Given the description of an element on the screen output the (x, y) to click on. 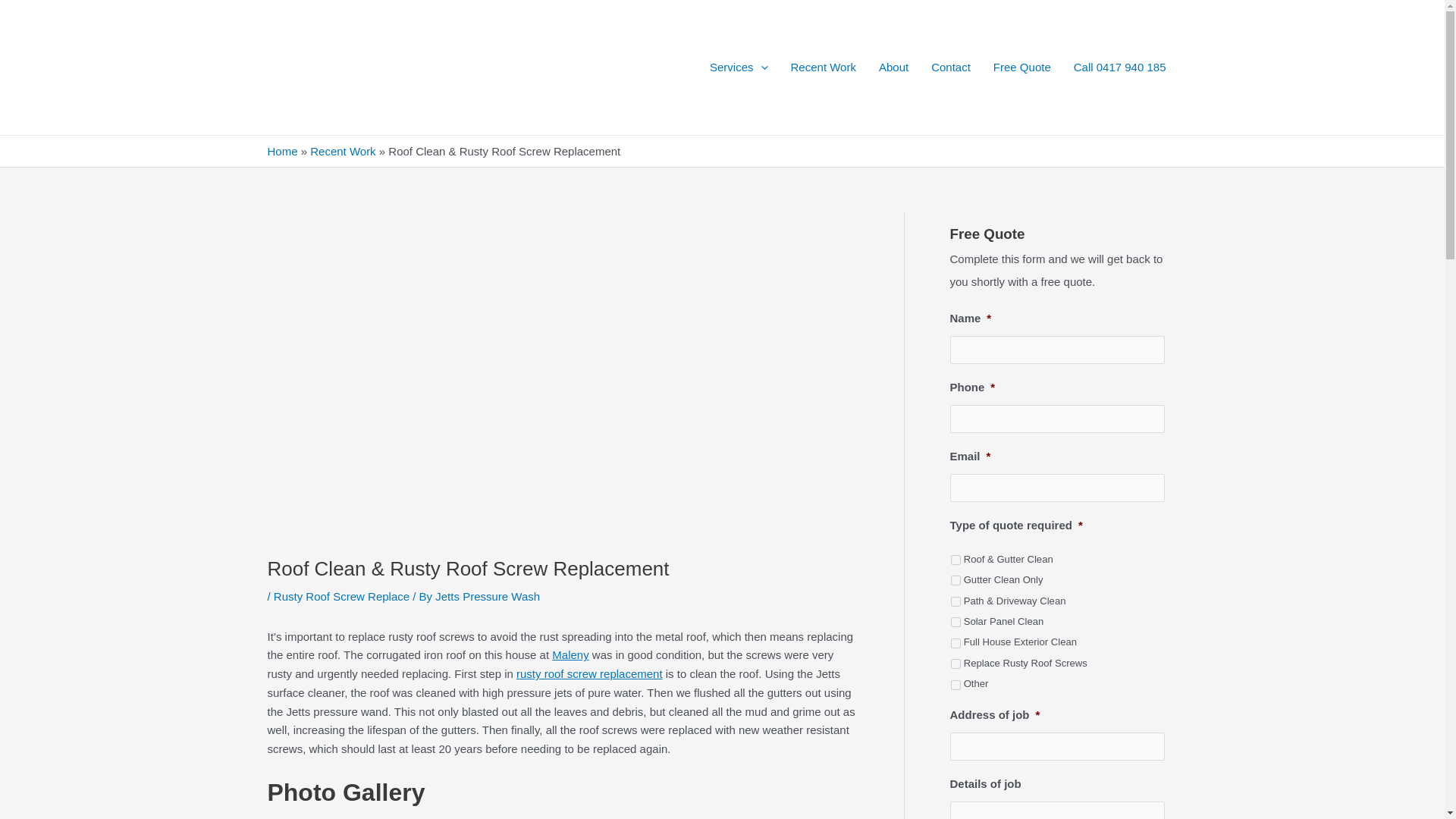
Maleny (569, 654)
Replace Rusty Roof Screws (955, 664)
Jetts Pressure Wash (487, 595)
Call 0417 940 185 (1119, 67)
Gutter Clean Only (955, 580)
Free Quote (1021, 67)
Recent Work (822, 67)
View all posts by Jetts Pressure Wash (487, 595)
rusty roof screw replacement (589, 673)
Home (281, 151)
Services (738, 67)
Recent Work (342, 151)
About (893, 67)
Other (955, 685)
Full House Exterior Clean (955, 643)
